Given the description of an element on the screen output the (x, y) to click on. 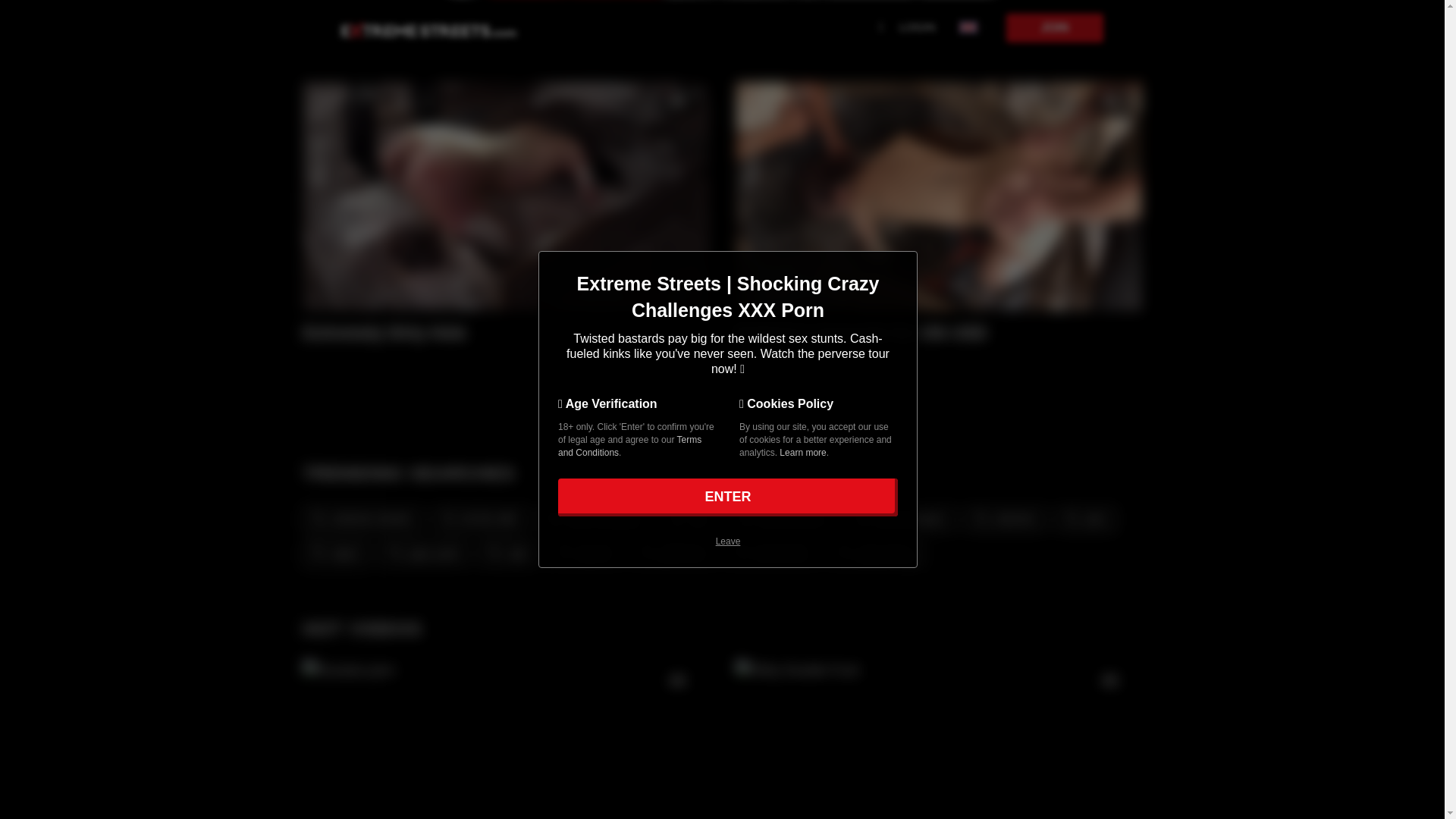
Leave (728, 541)
anal extreme (778, 517)
julia north (420, 552)
piss (1083, 517)
food fetish (767, 552)
extreme streets (357, 517)
gang bang (871, 552)
silent (333, 552)
wife (506, 552)
girlfriend (669, 552)
son (687, 517)
Embed in Concrete for 20k USD (919, 332)
ENTER Extreme Streets (727, 497)
do the wife (475, 517)
JOIN (1054, 27)
